Given the description of an element on the screen output the (x, y) to click on. 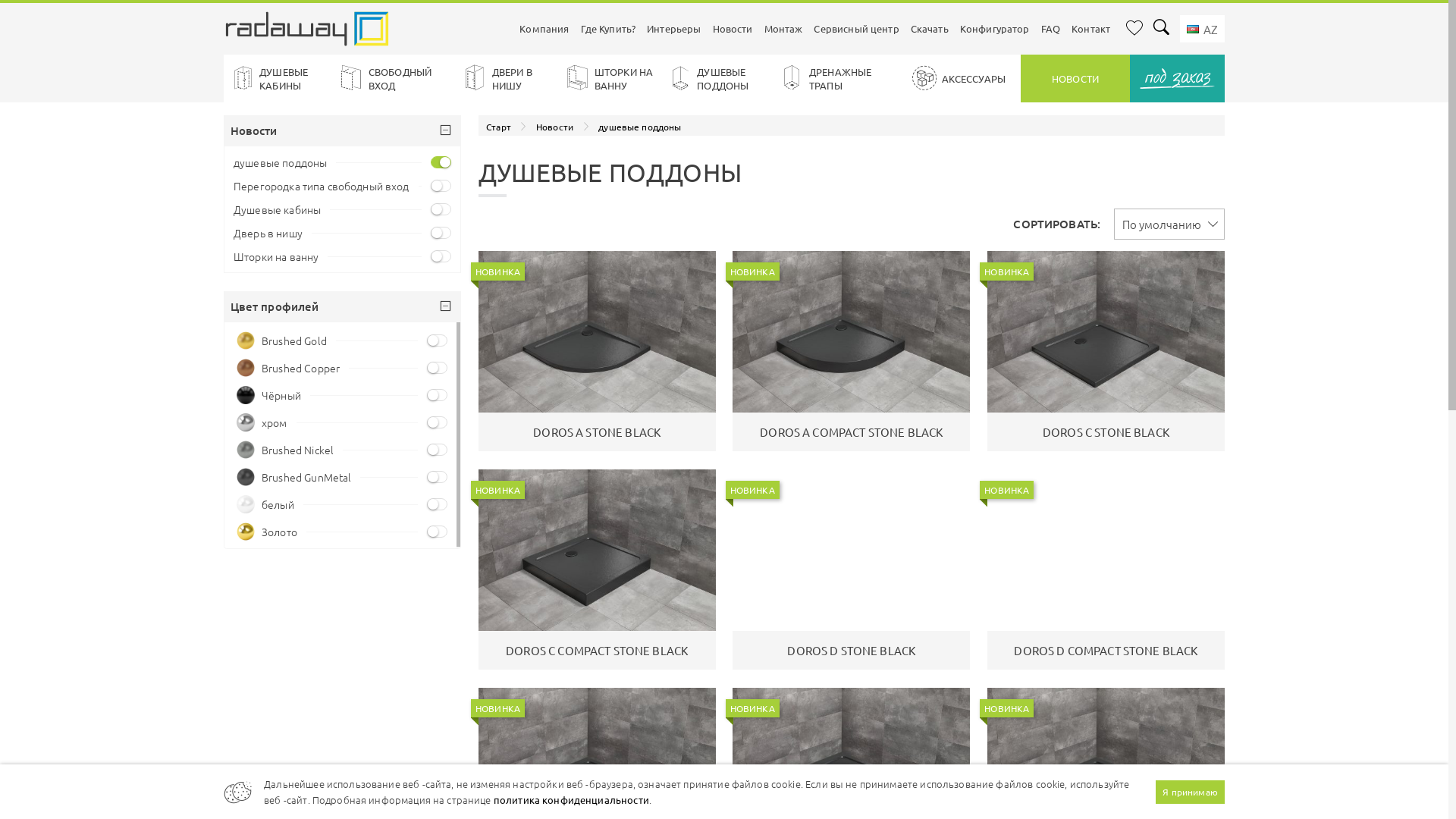
FAQ Element type: text (1050, 28)
  AZ Element type: text (1201, 28)
